Given the description of an element on the screen output the (x, y) to click on. 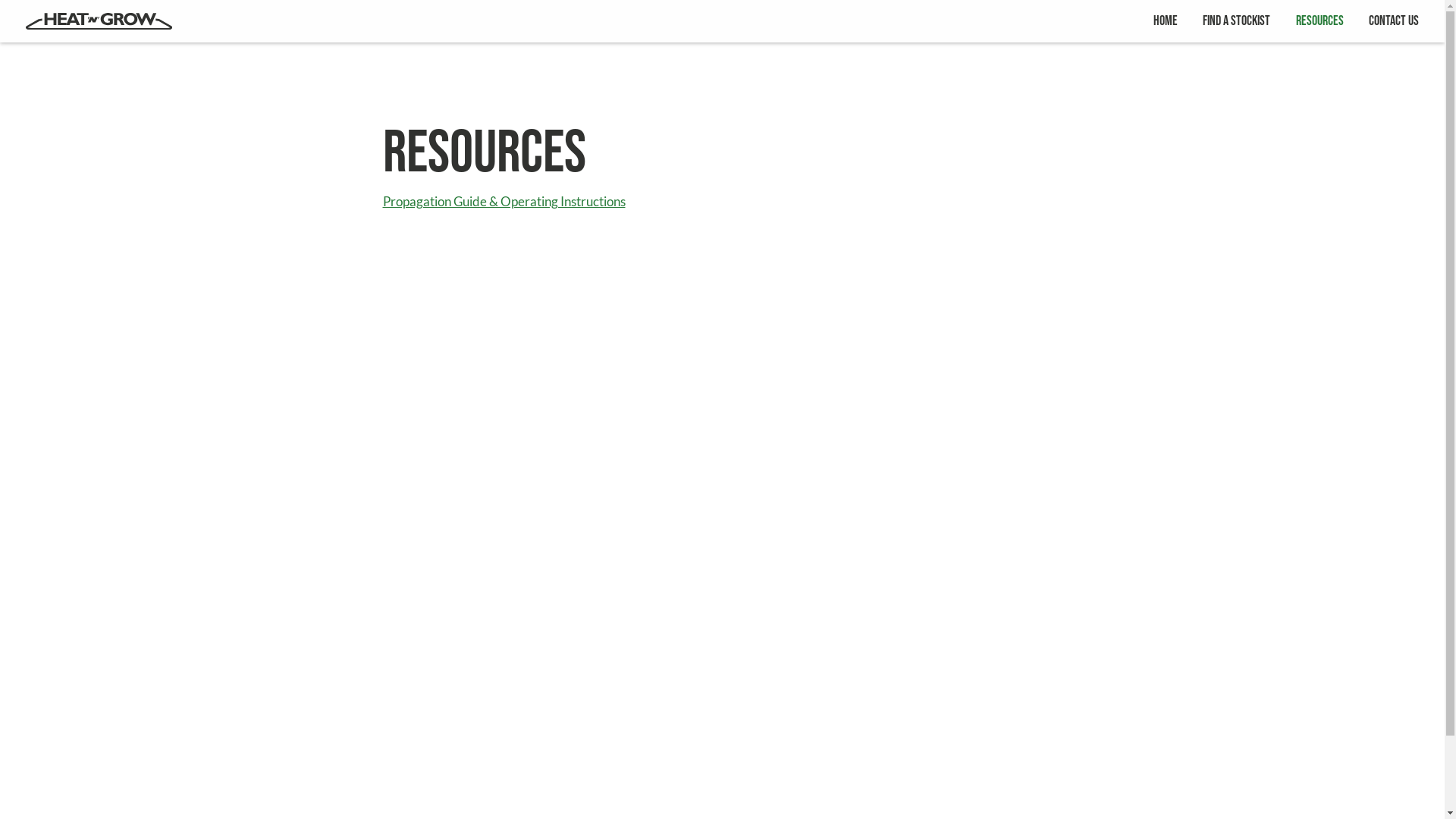
Home Element type: text (1165, 21)
Contact Us Element type: text (1393, 21)
Propagation Guide & Operating Instructions Element type: text (503, 201)
Resources Element type: text (1319, 21)
Find a Stockist Element type: text (1236, 21)
